Given the description of an element on the screen output the (x, y) to click on. 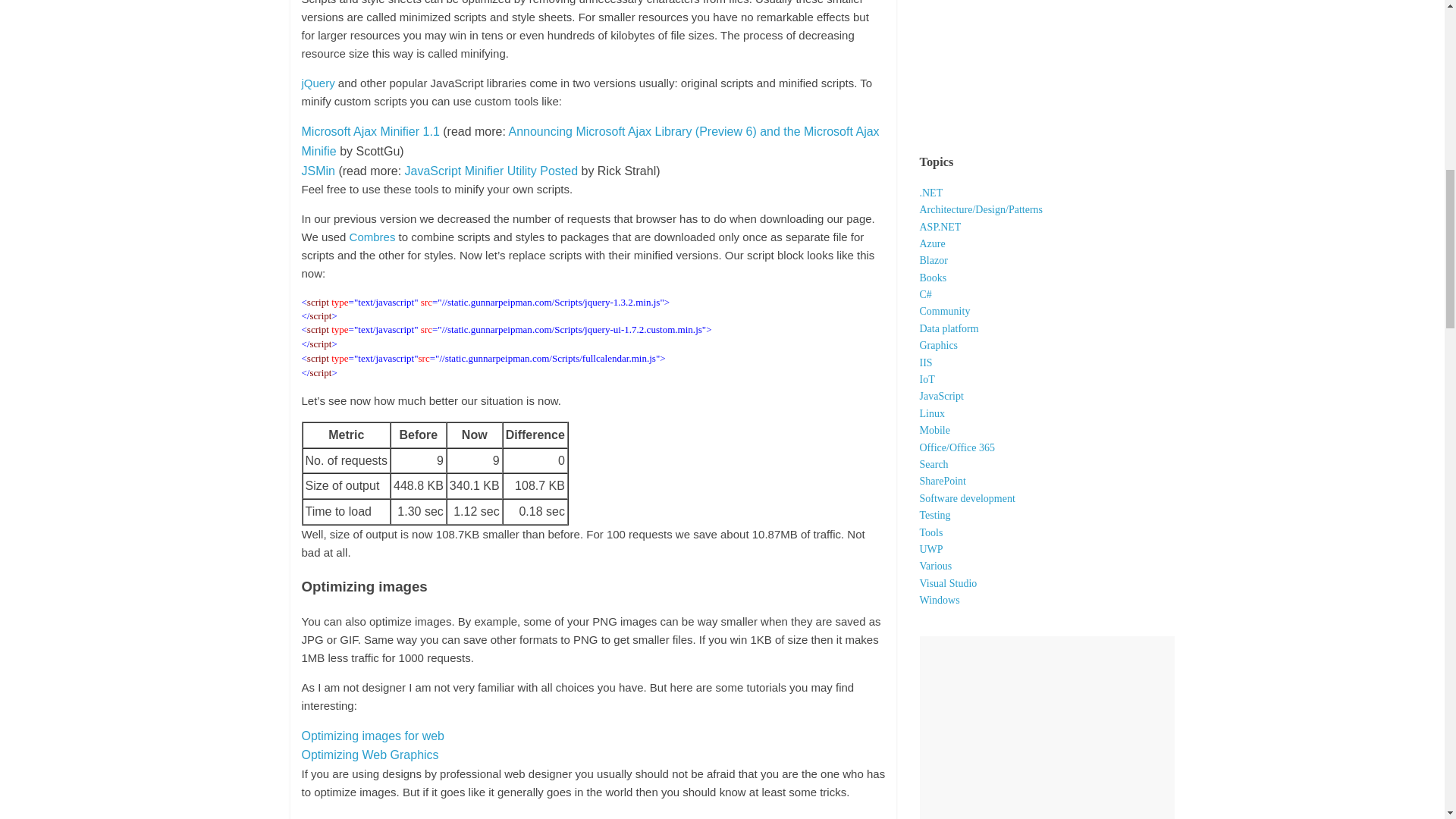
Microsoft Ajax Minifier 1.1 (370, 131)
jQuery (317, 82)
Combres (372, 236)
Optimizing images for web (373, 735)
JSMin (317, 170)
JavaScript Minifier Utility Posted (491, 170)
Optimizing Web Graphics (370, 754)
